Given the description of an element on the screen output the (x, y) to click on. 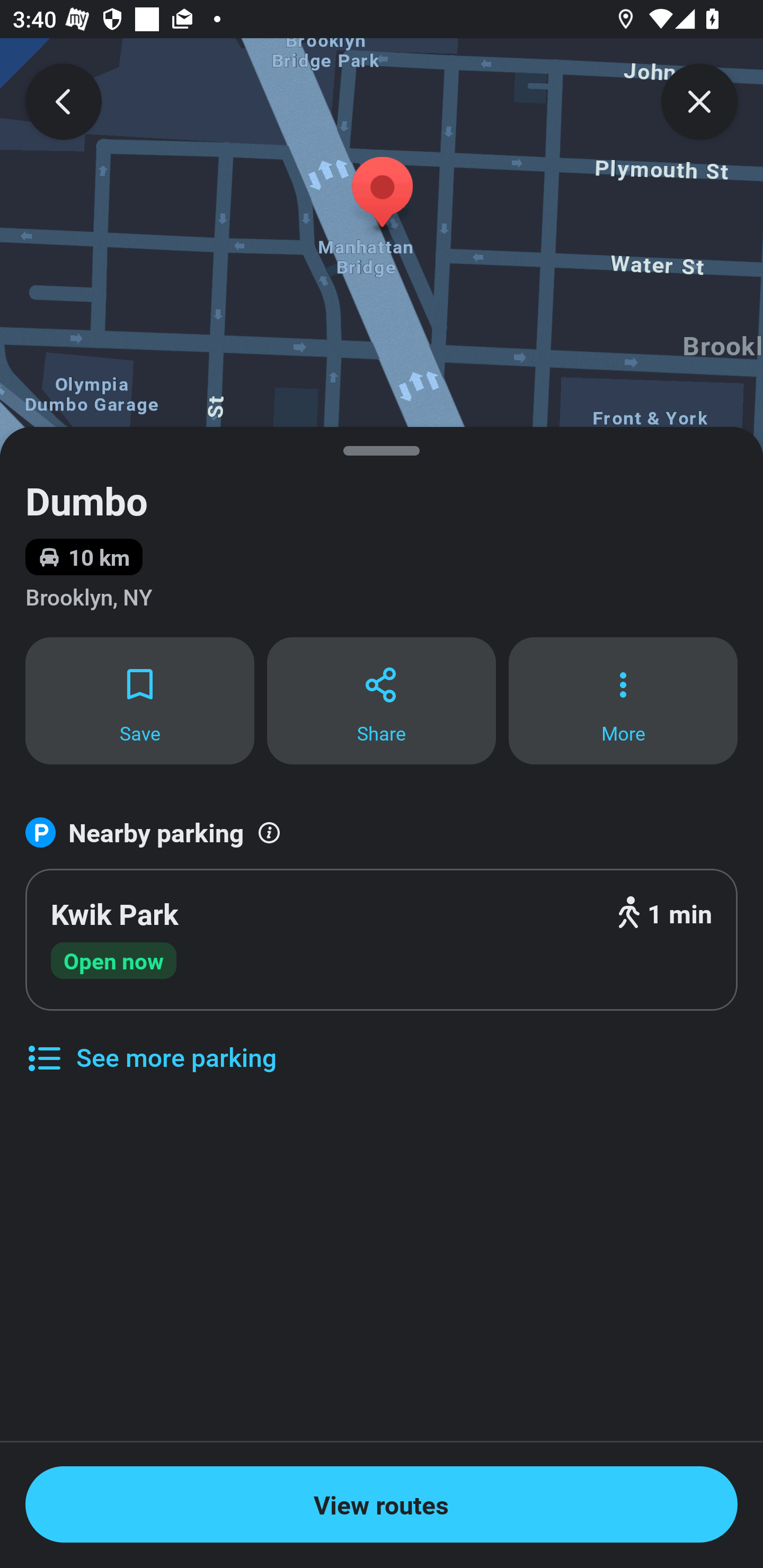
Dumbo 10 km Brooklyn, NY (381, 531)
Save (139, 700)
Share (381, 700)
More (622, 700)
Kwik Park 1 min Open now (381, 939)
See more parking (150, 1043)
View routes (381, 1504)
